Given the description of an element on the screen output the (x, y) to click on. 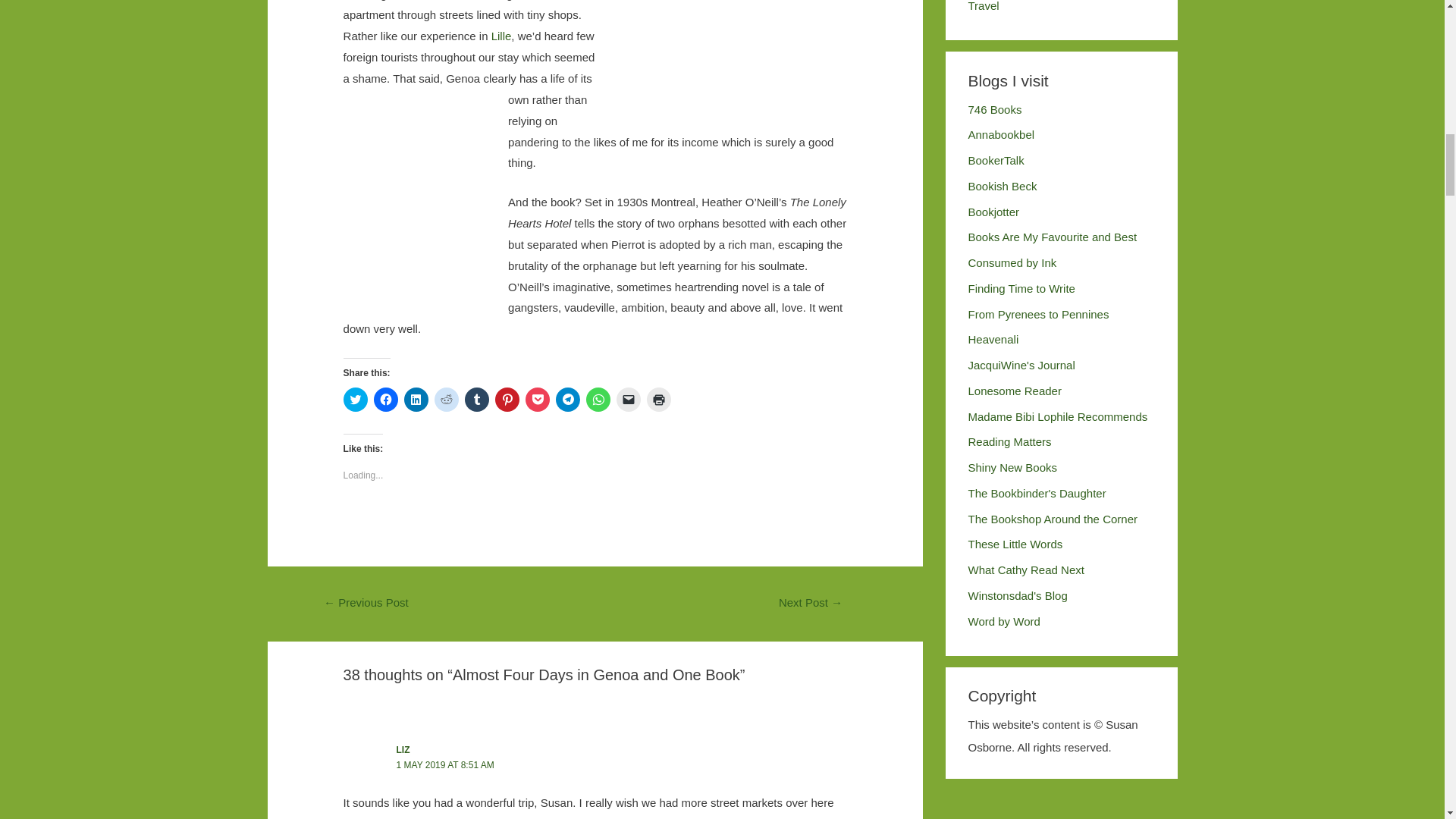
Click to share on Tumblr (476, 399)
Click to share on Reddit (445, 399)
Click to share on Twitter (355, 399)
Click to share on Pocket (537, 399)
Click to share on LinkedIn (416, 399)
Click to share on Facebook (385, 399)
Click to share on Pinterest (507, 399)
Lille (502, 35)
